Given the description of an element on the screen output the (x, y) to click on. 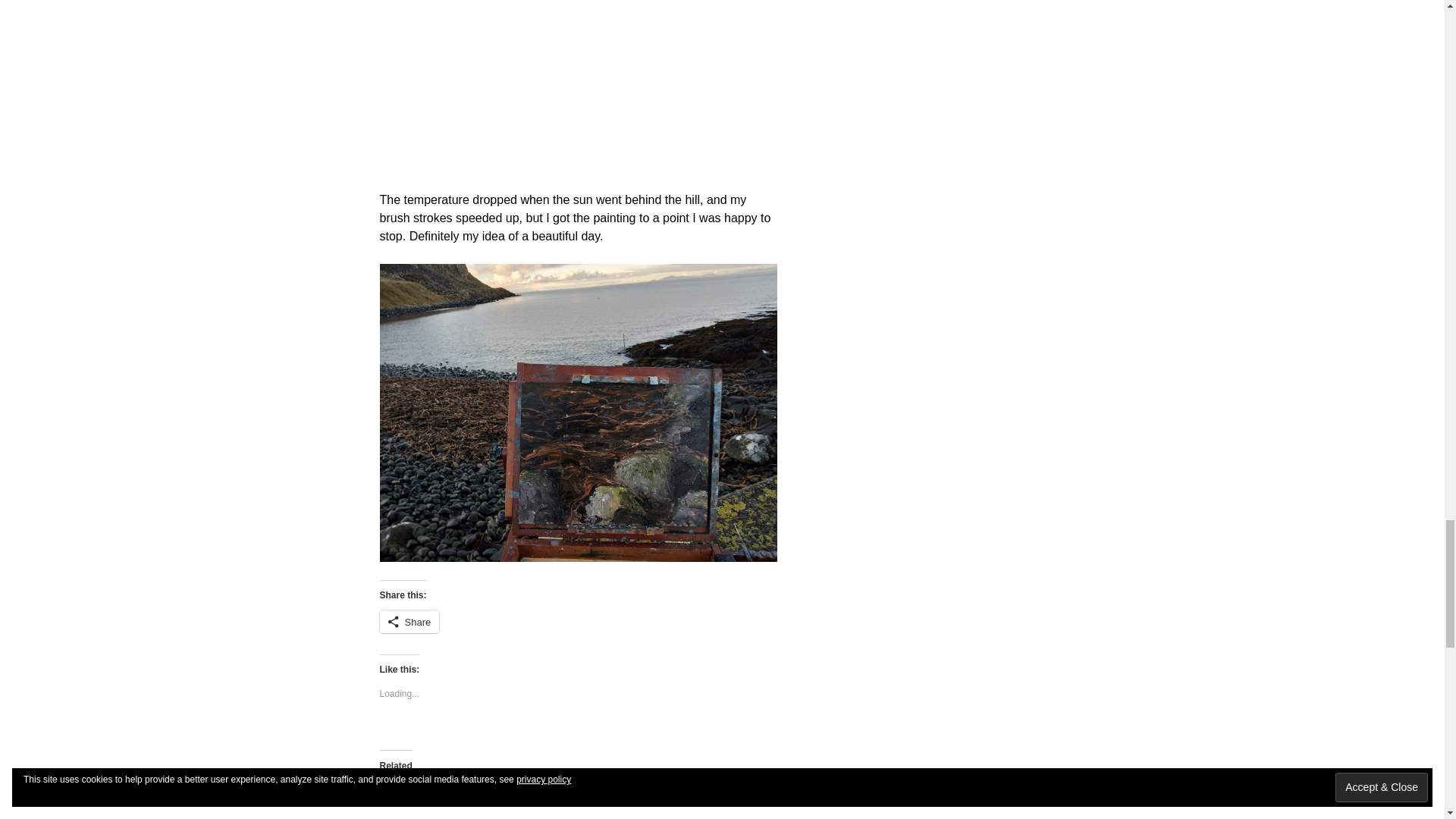
Follow the Yellow Breakwater (439, 800)
Concertina Sketchbook at the Yellow Breakwater (576, 800)
